Given the description of an element on the screen output the (x, y) to click on. 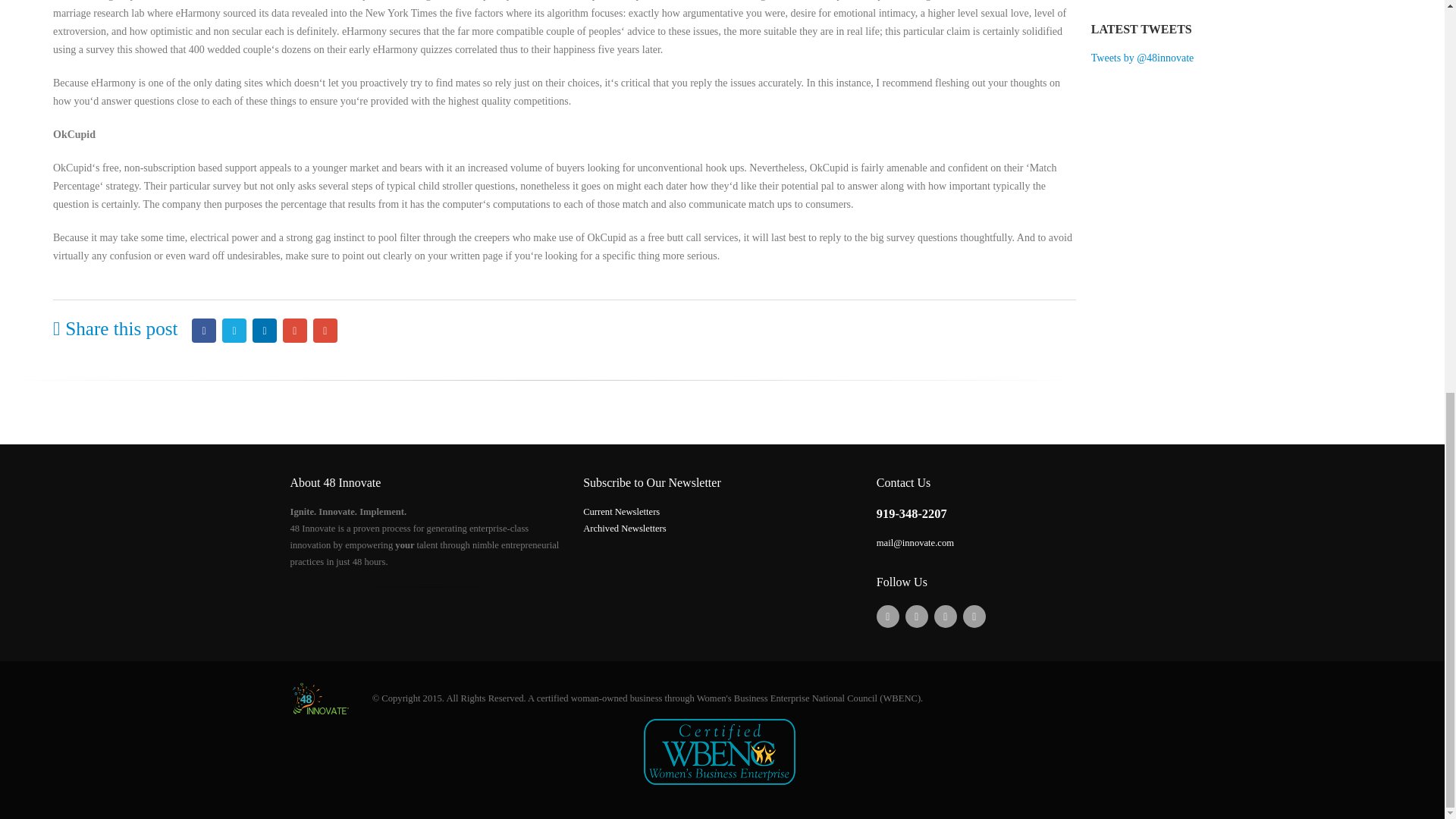
Facebook (203, 330)
LinkedIn (263, 330)
Twitter (234, 330)
48 Innovate - Ignite Employee-driven Innovation (319, 697)
Email (325, 330)
